Given the description of an element on the screen output the (x, y) to click on. 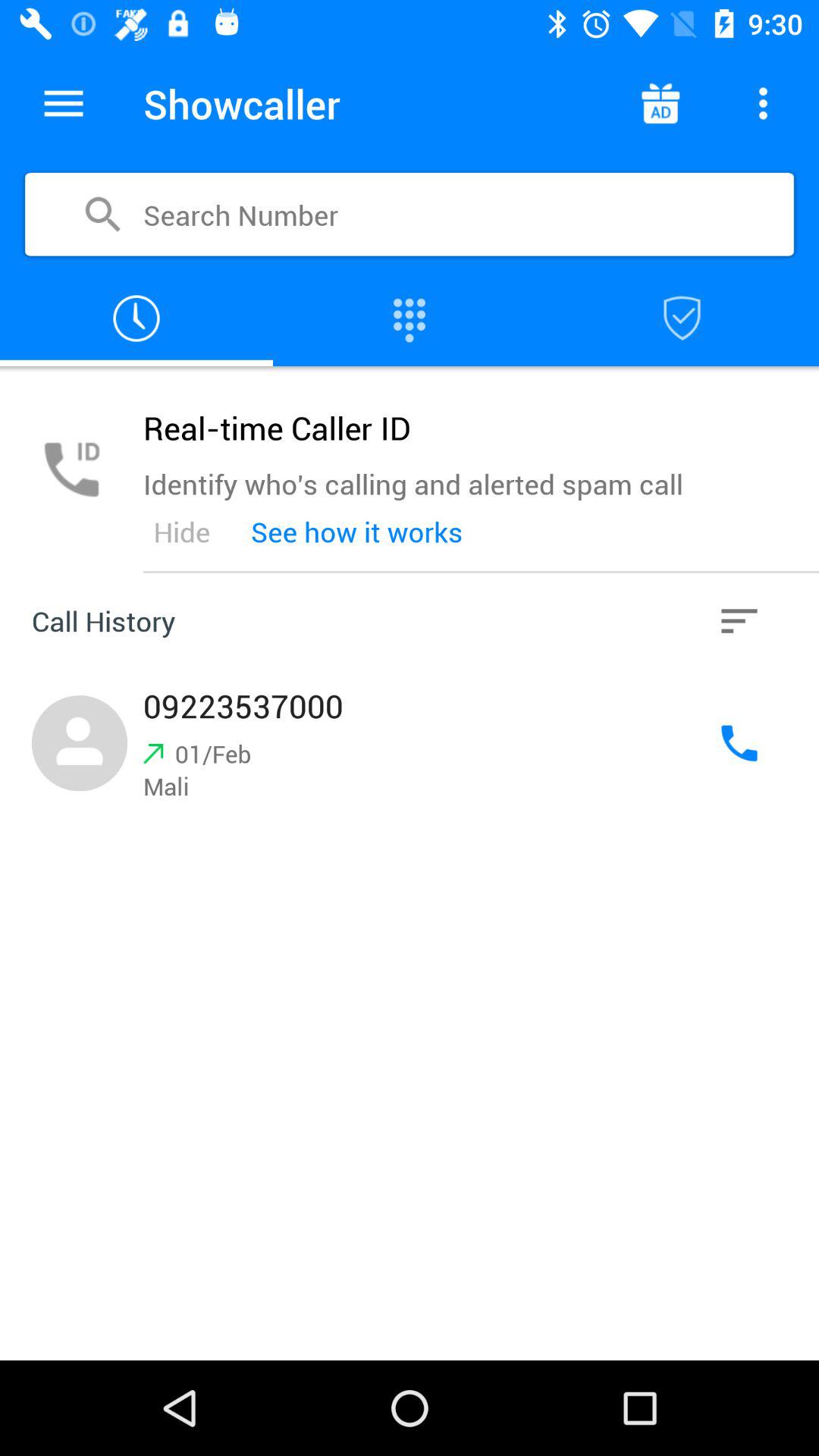
click the item next to see how it (181, 531)
